Given the description of an element on the screen output the (x, y) to click on. 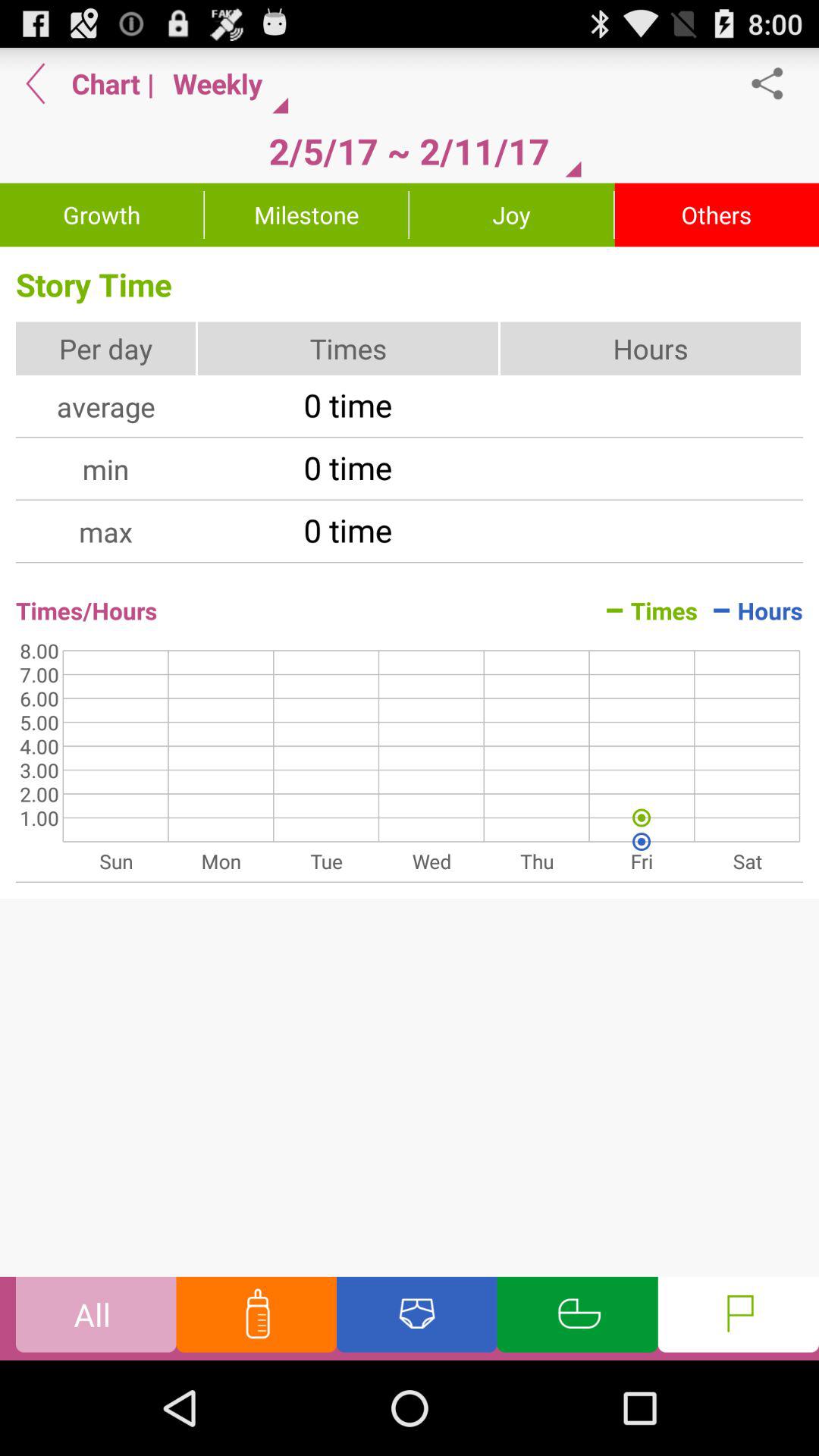
feeding icon (256, 1318)
